Given the description of an element on the screen output the (x, y) to click on. 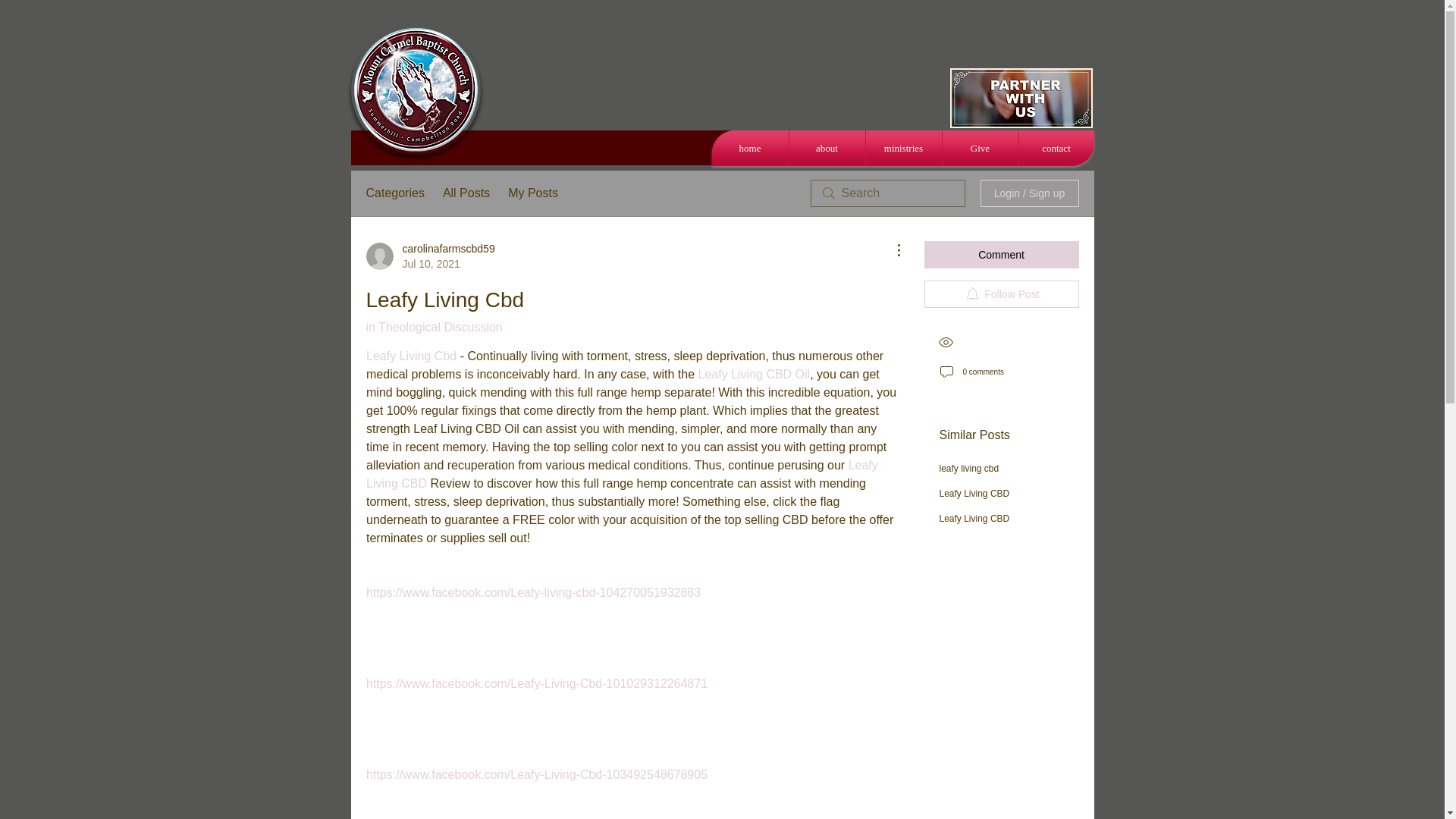
Comment (1000, 254)
All Posts (465, 193)
Give (979, 148)
My Posts (532, 193)
contact (1056, 148)
in Theological Discussion (433, 327)
ministries (904, 148)
home (749, 148)
Leafy Living CBD (622, 473)
Categories (394, 193)
